Given the description of an element on the screen output the (x, y) to click on. 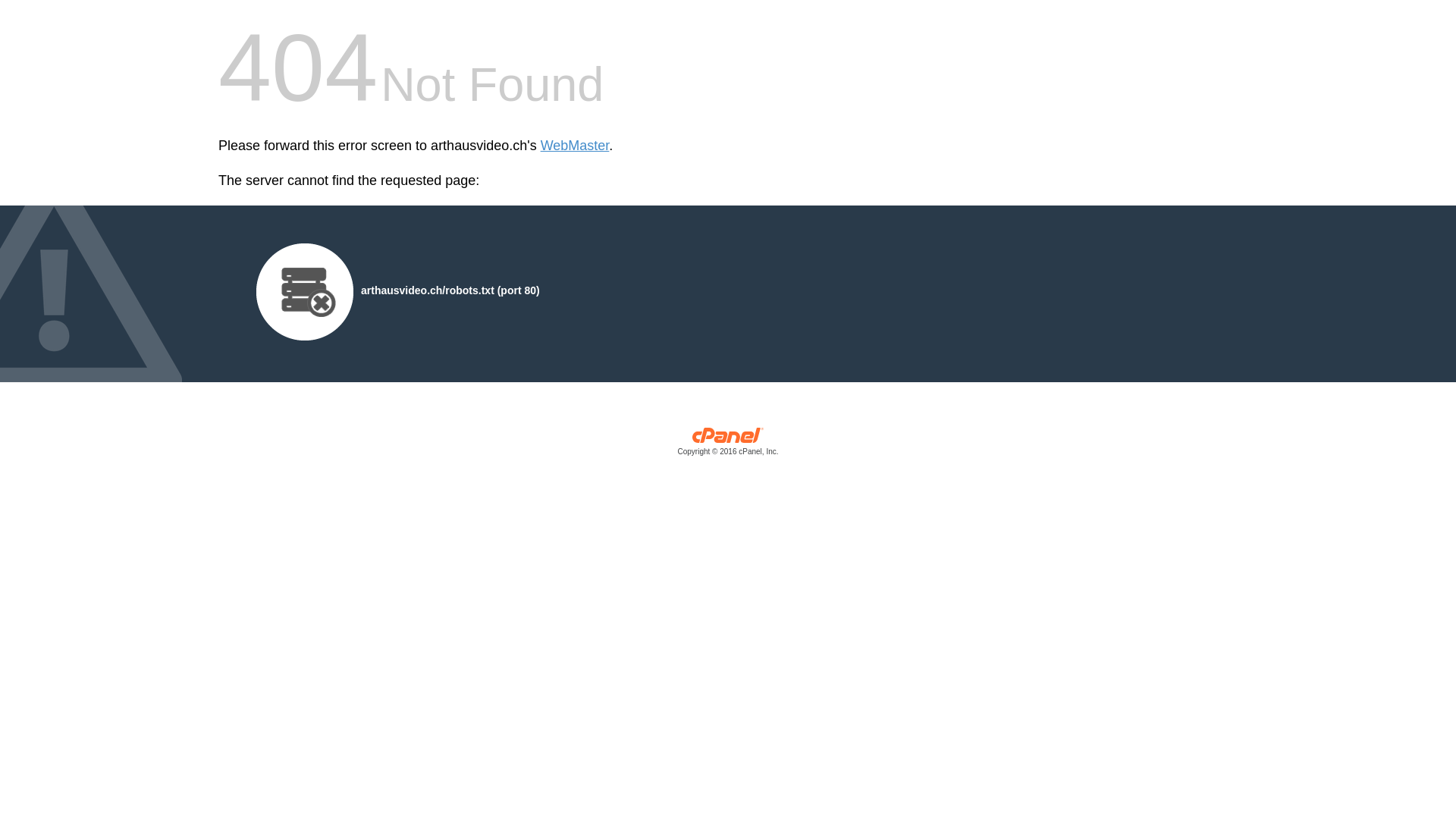
WebMaster Element type: text (574, 145)
